Given the description of an element on the screen output the (x, y) to click on. 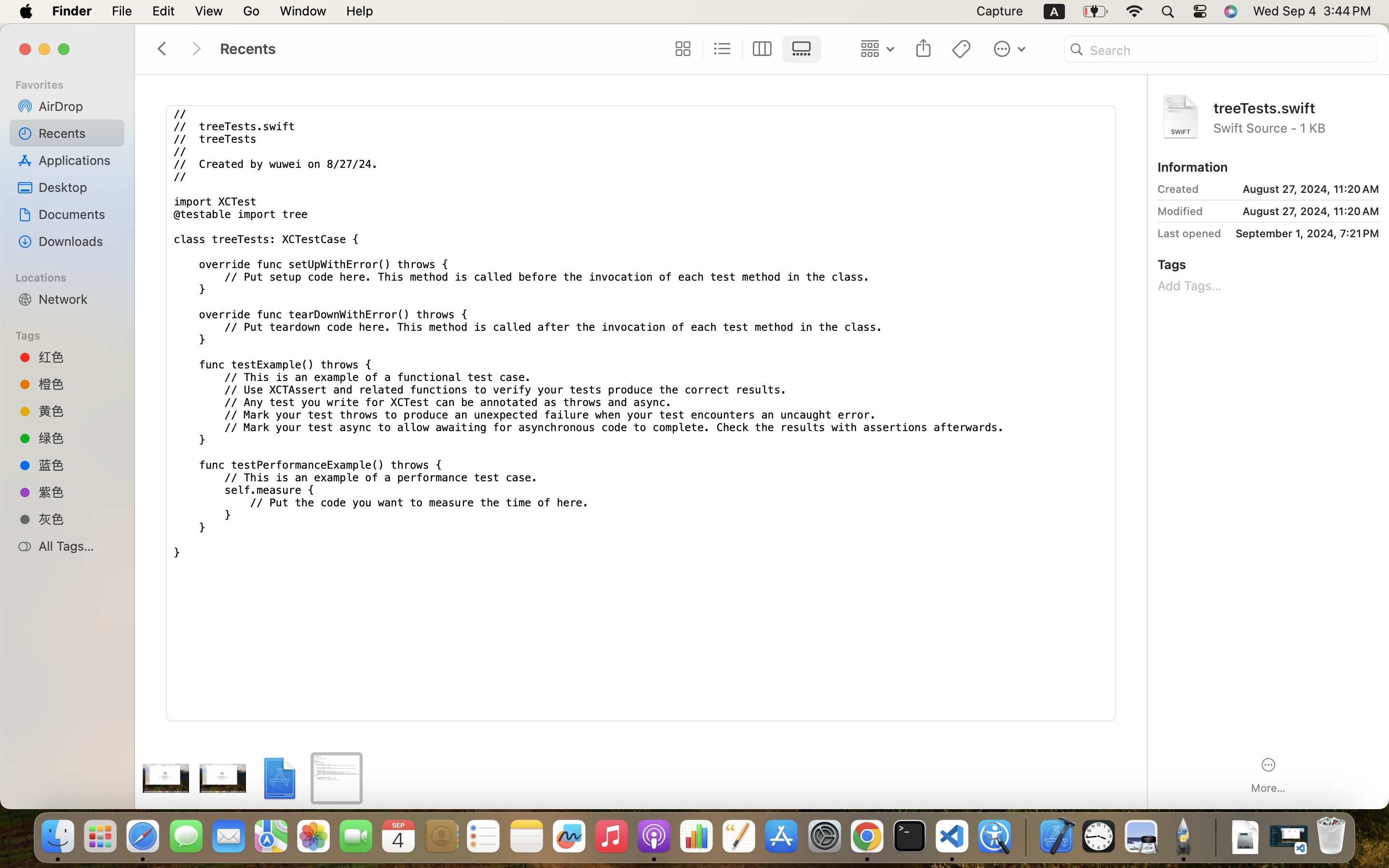
<AXUIElement 0x13a955cc0> {pid=510} Element type: AXRadioGroup (741, 48)
Swift Source - 1 KB Element type: AXStaticText (1296, 127)
Favorites Element type: AXStaticText (72, 83)
Desktop Element type: AXStaticText (77, 186)
黄色 Element type: AXStaticText (77, 410)
